Given the description of an element on the screen output the (x, y) to click on. 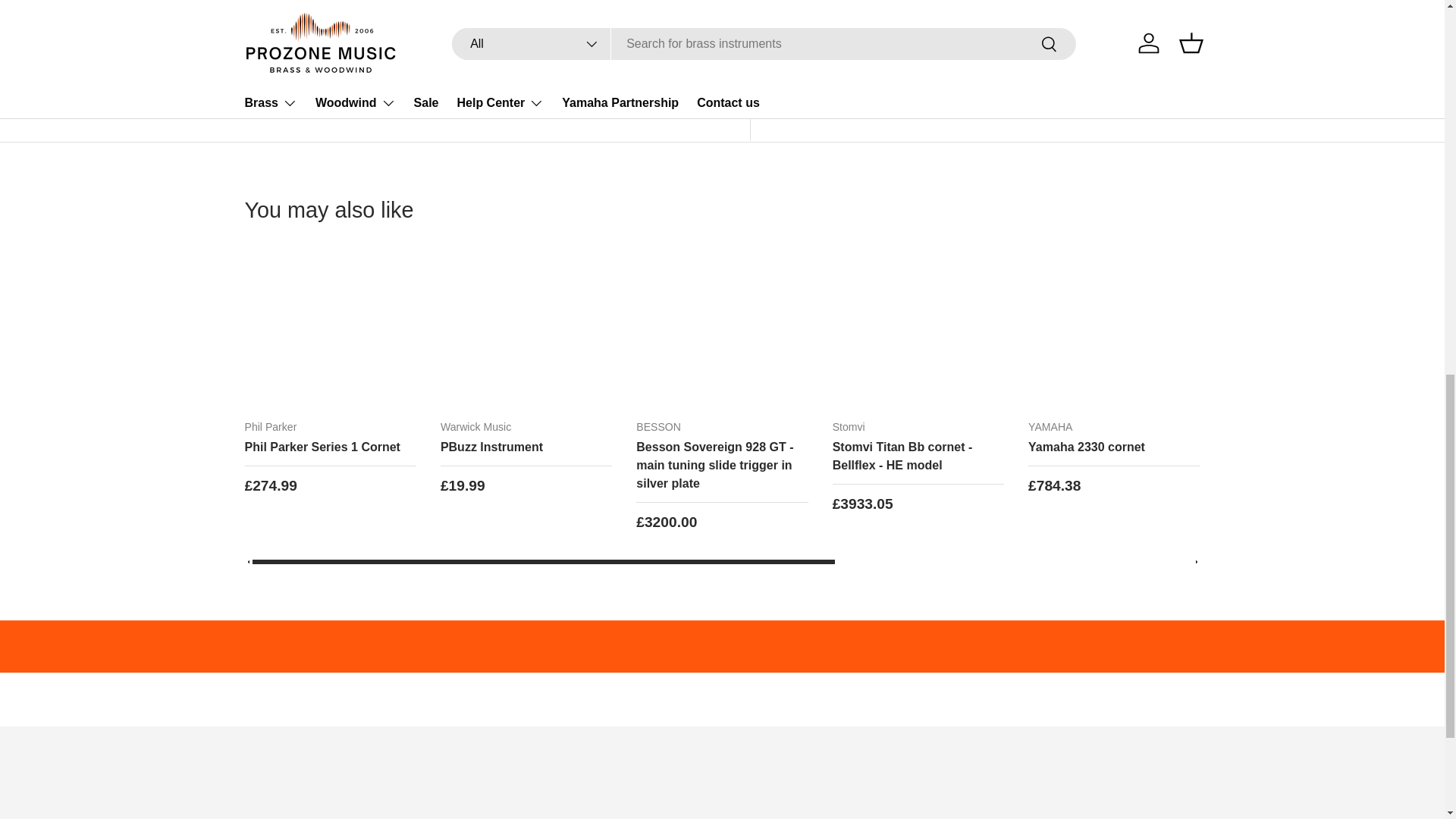
Diners Club (340, 11)
Union Pay (541, 11)
Apple Pay (311, 11)
Shop Pay (513, 11)
Mastercard (455, 11)
Visa (570, 11)
Google Pay (398, 11)
PayPal (484, 11)
Maestro (426, 11)
Discover (369, 11)
